Given the description of an element on the screen output the (x, y) to click on. 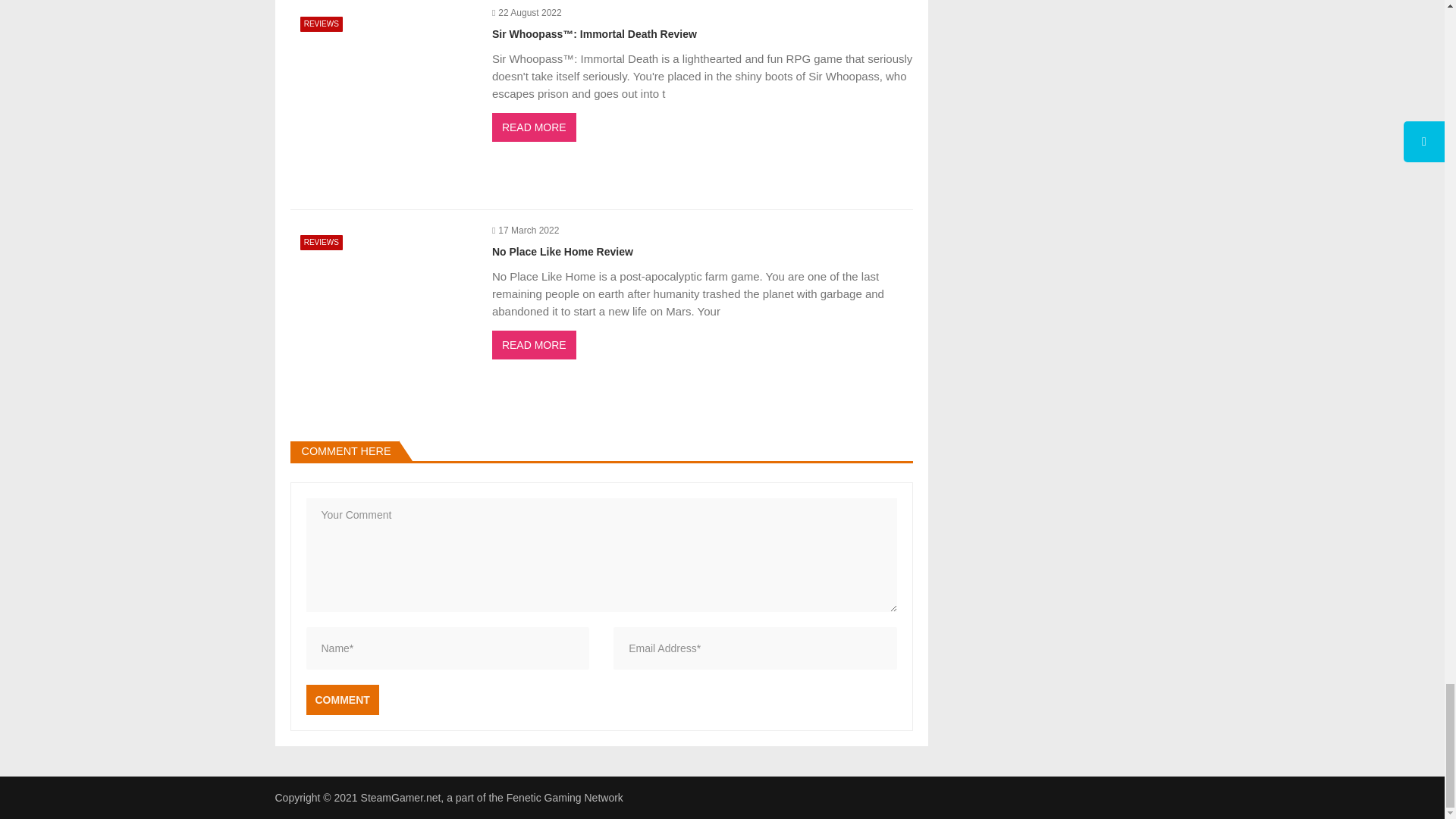
Comment (341, 699)
